Given the description of an element on the screen output the (x, y) to click on. 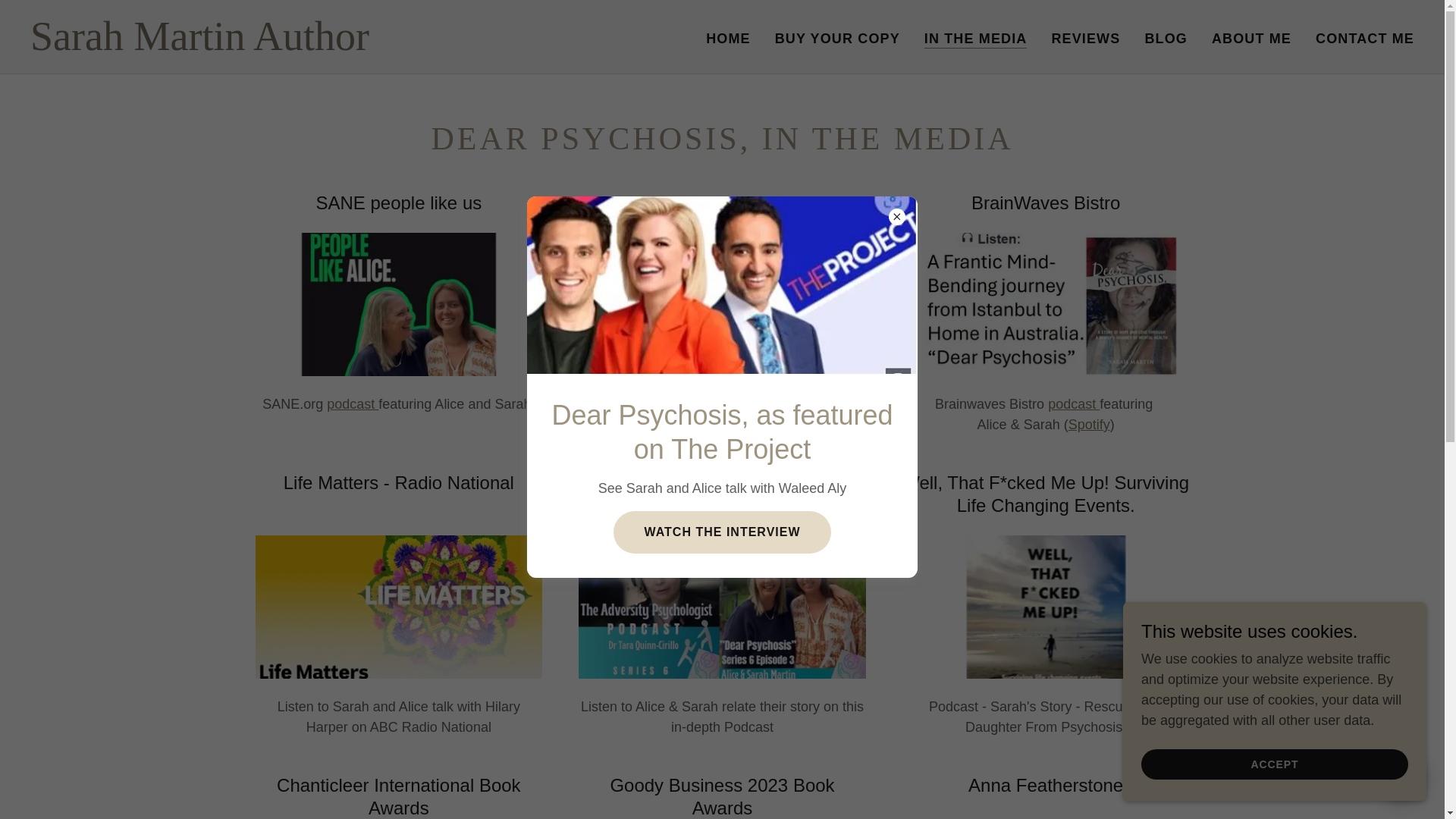
Sarah Martin Author (272, 45)
Sarah Martin Author (272, 45)
ABOUT ME (1251, 38)
CONTACT ME (1364, 38)
REVIEWS (1085, 38)
BLOG (1166, 38)
HOME (728, 38)
BUY YOUR COPY (837, 38)
podcast (352, 403)
IN THE MEDIA (975, 38)
podcast (1073, 403)
Spotify (1088, 424)
